Given the description of an element on the screen output the (x, y) to click on. 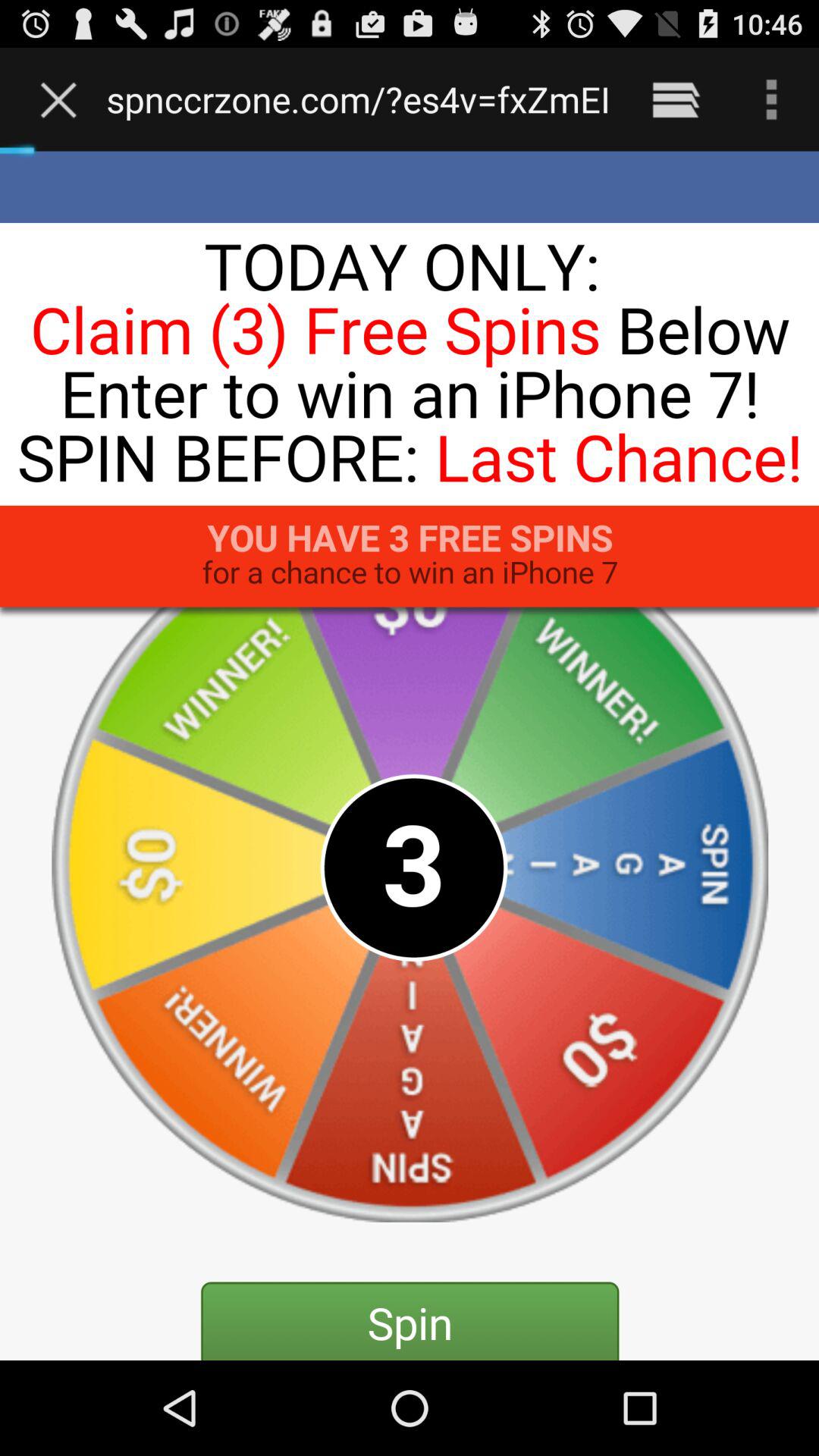
flip until the www electronicproductzone com item (357, 99)
